Given the description of an element on the screen output the (x, y) to click on. 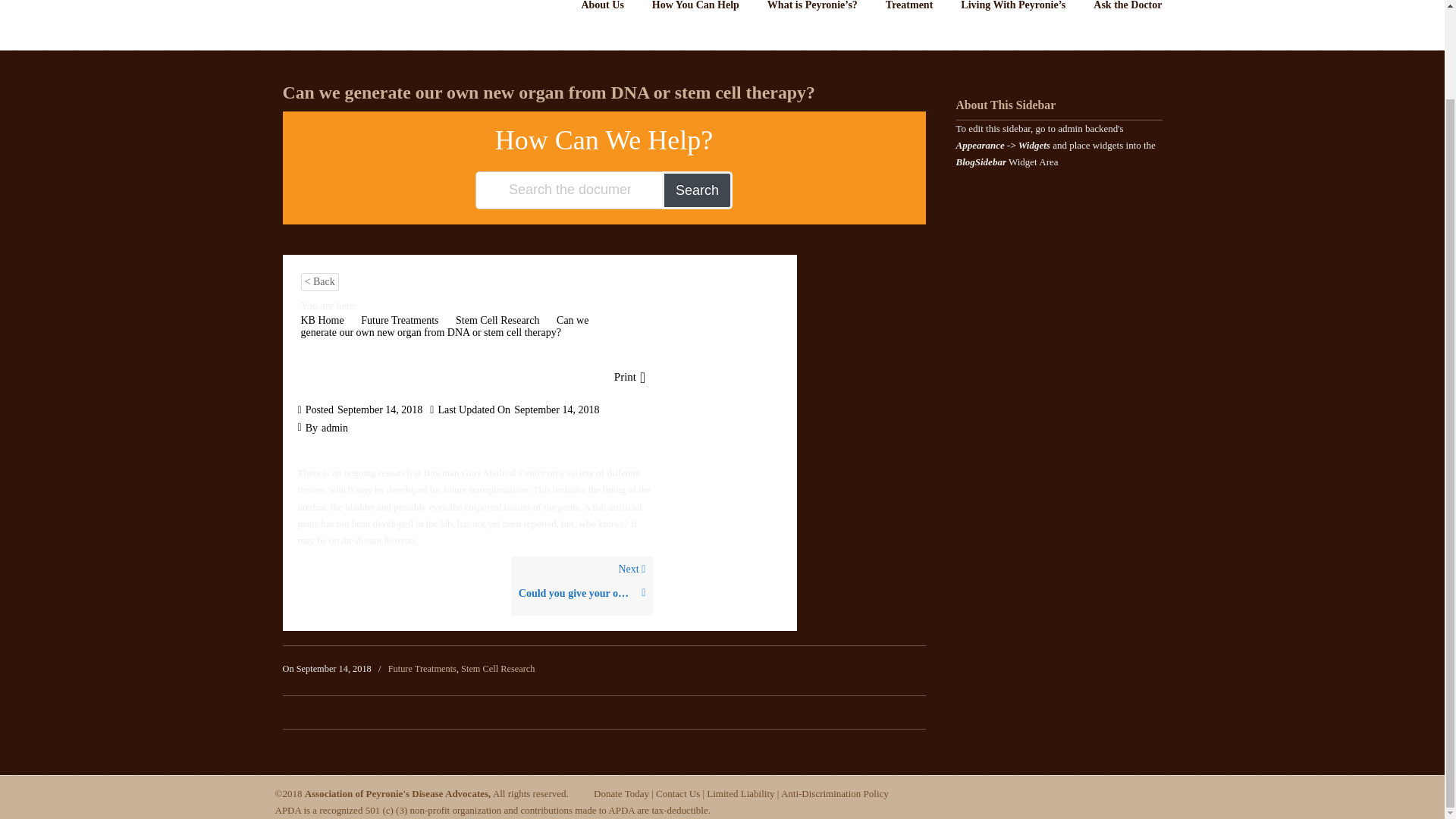
Treatment (908, 10)
How You Can Help (695, 10)
Future Treatments (399, 319)
Stem Cell Research (496, 319)
About Us (602, 10)
Search (697, 190)
Ask the Doctor (1127, 10)
KB Home (321, 319)
